Given the description of an element on the screen output the (x, y) to click on. 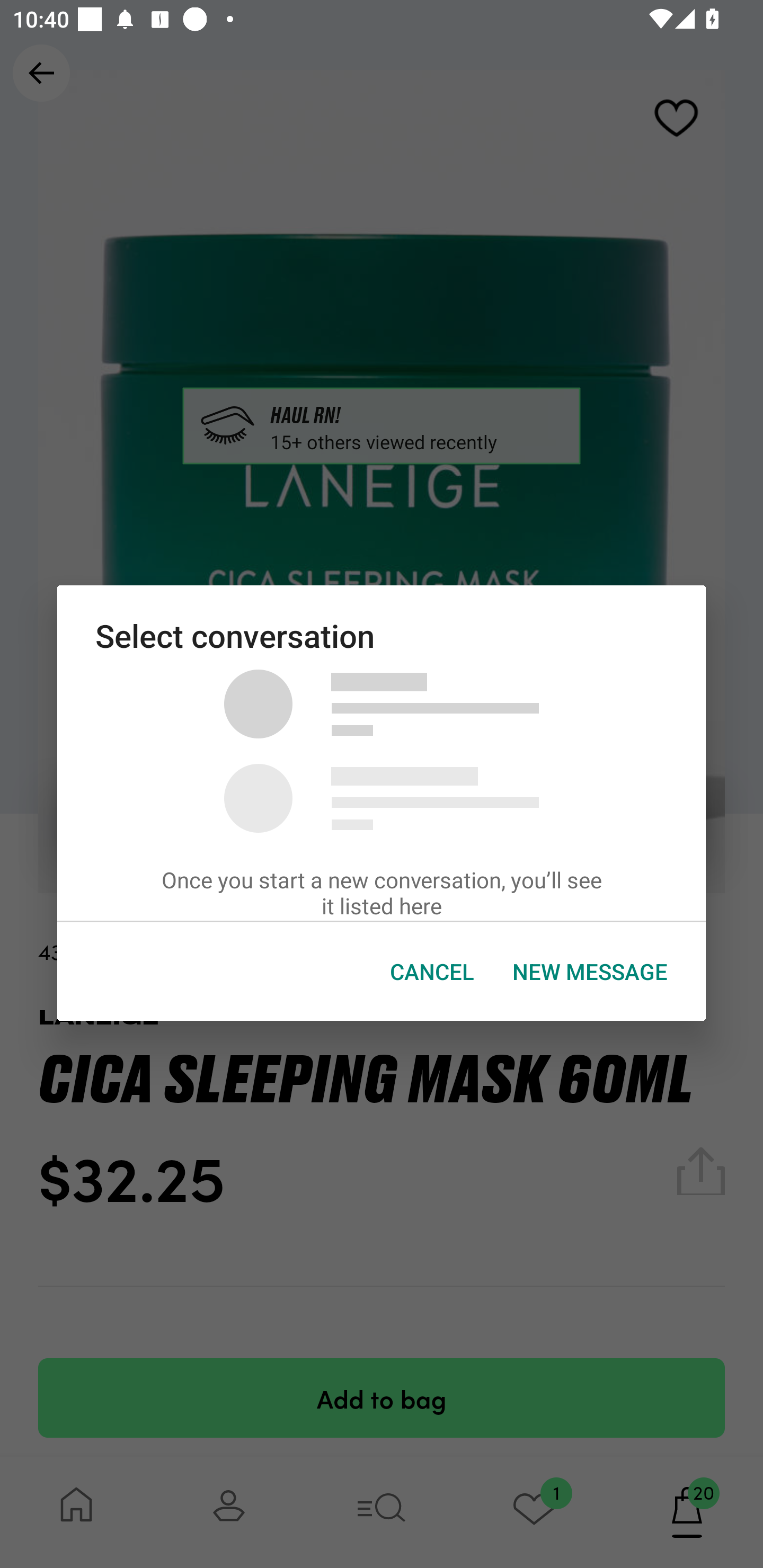
CANCEL (431, 971)
NEW MESSAGE (589, 971)
